Given the description of an element on the screen output the (x, y) to click on. 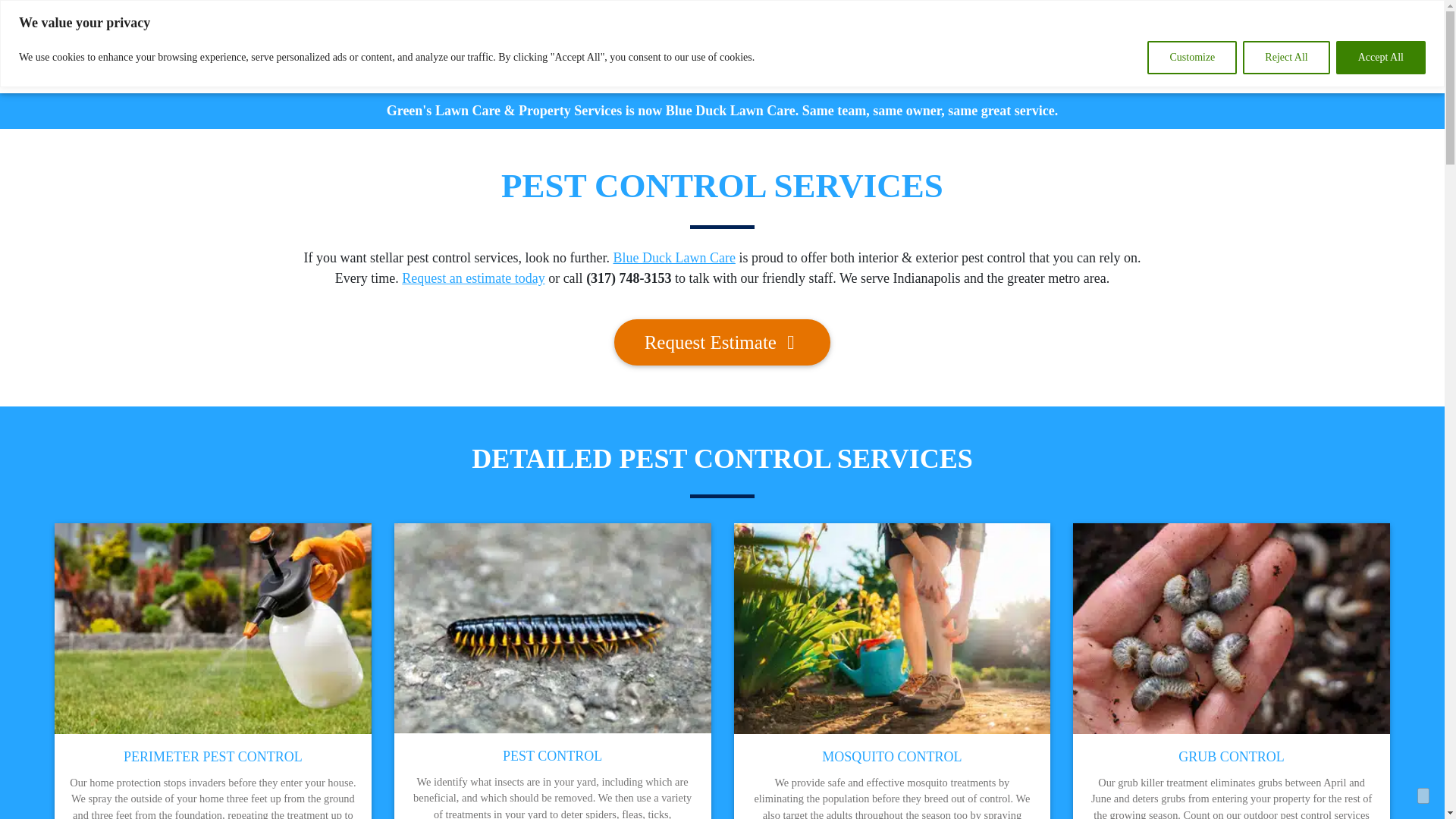
Seasonal (828, 40)
Lawn Care (616, 40)
Pest Control (726, 40)
Reject All (1286, 57)
About (914, 40)
Lawn Care Packages (485, 40)
Accept All (1380, 57)
Customize (1191, 57)
